Given the description of an element on the screen output the (x, y) to click on. 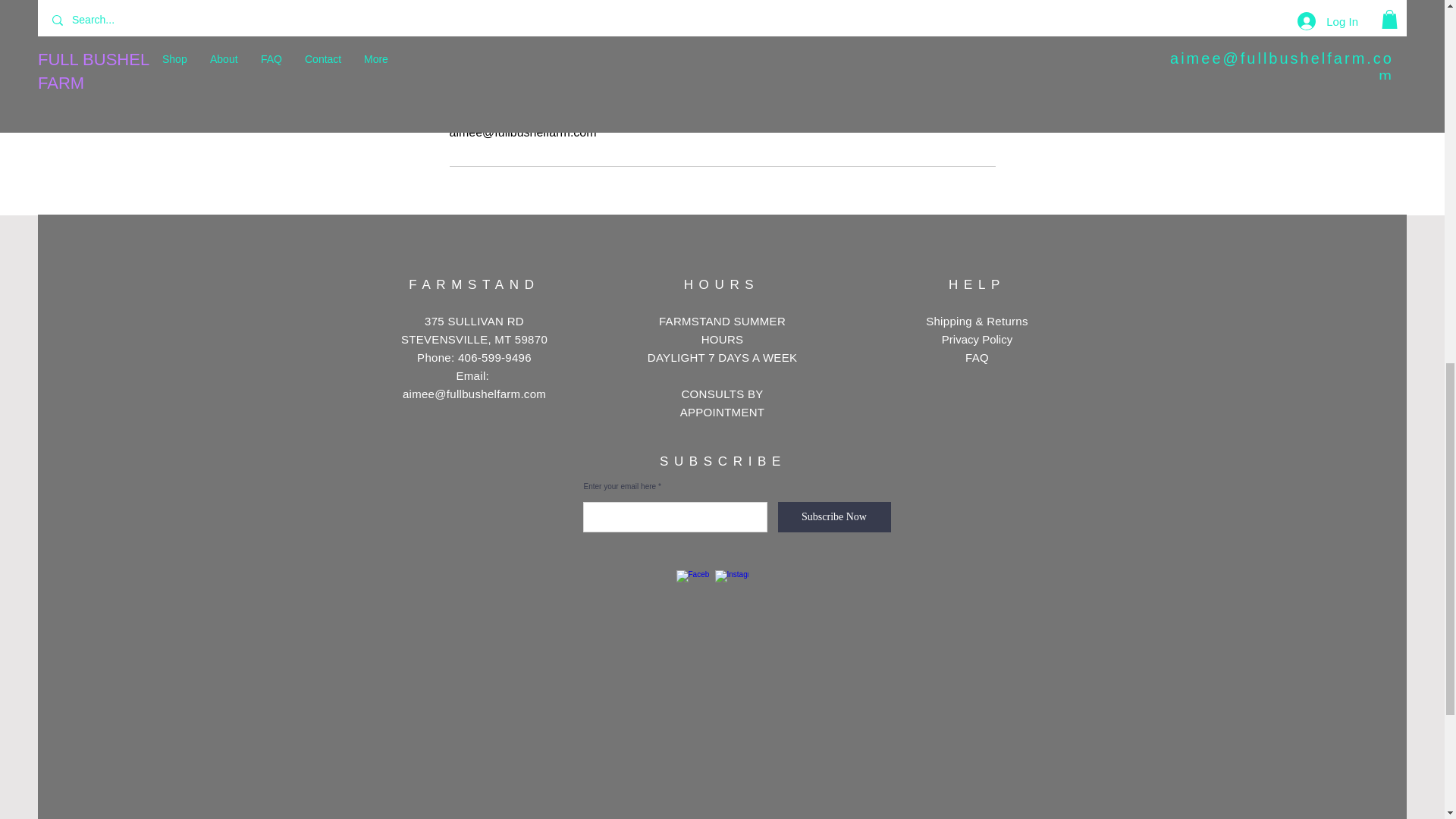
FAQ (976, 357)
Subscribe Now (834, 517)
Privacy Policy (976, 338)
